Given the description of an element on the screen output the (x, y) to click on. 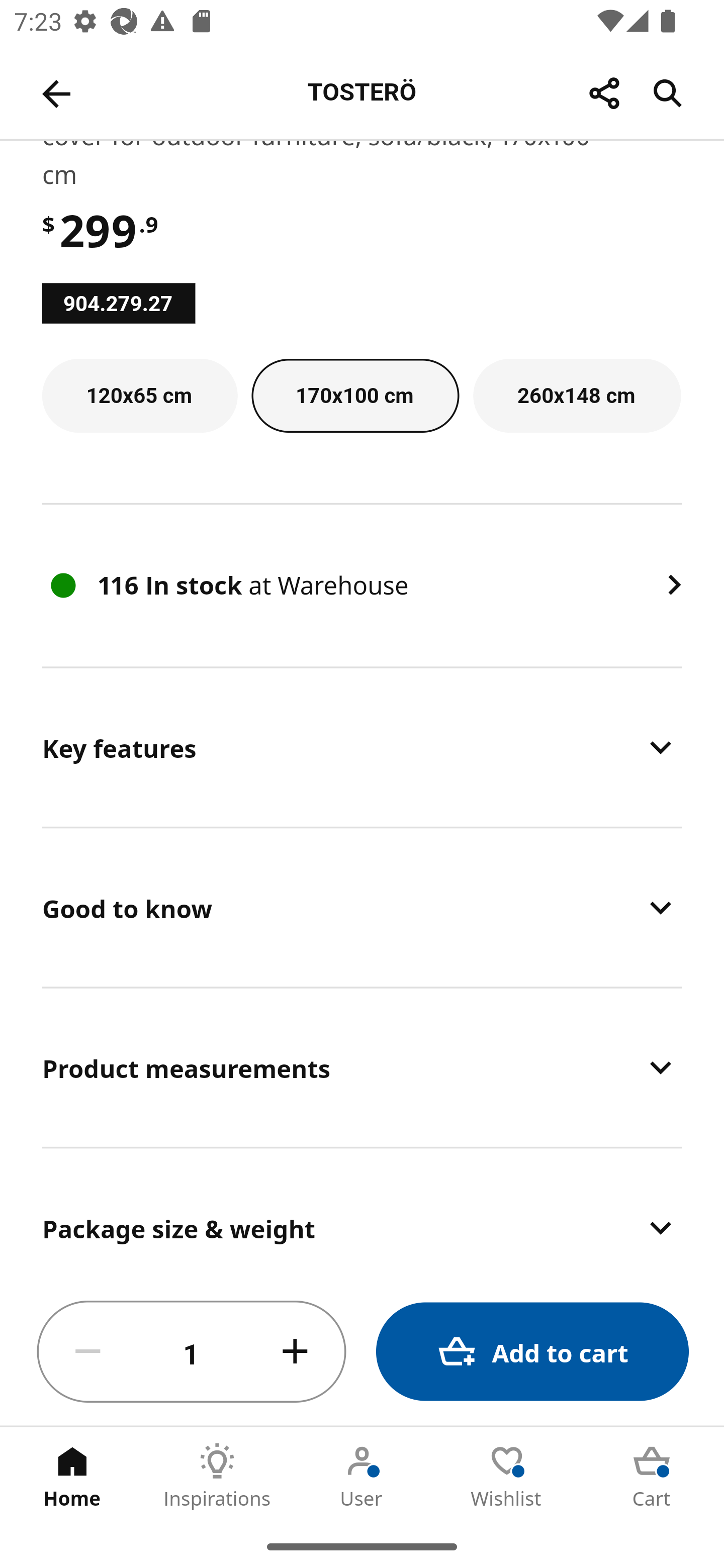
120x65 cm (139, 395)
170x100 cm (355, 395)
260x148 cm (577, 395)
116 In stock at Warehouse (361, 585)
Key features (361, 746)
Good to know (361, 906)
Product measurements (361, 1066)
Package size & weight (361, 1213)
Add to cart (531, 1352)
1 (191, 1352)
Home
Tab 1 of 5 (72, 1476)
Inspirations
Tab 2 of 5 (216, 1476)
User
Tab 3 of 5 (361, 1476)
Wishlist
Tab 4 of 5 (506, 1476)
Cart
Tab 5 of 5 (651, 1476)
